Given the description of an element on the screen output the (x, y) to click on. 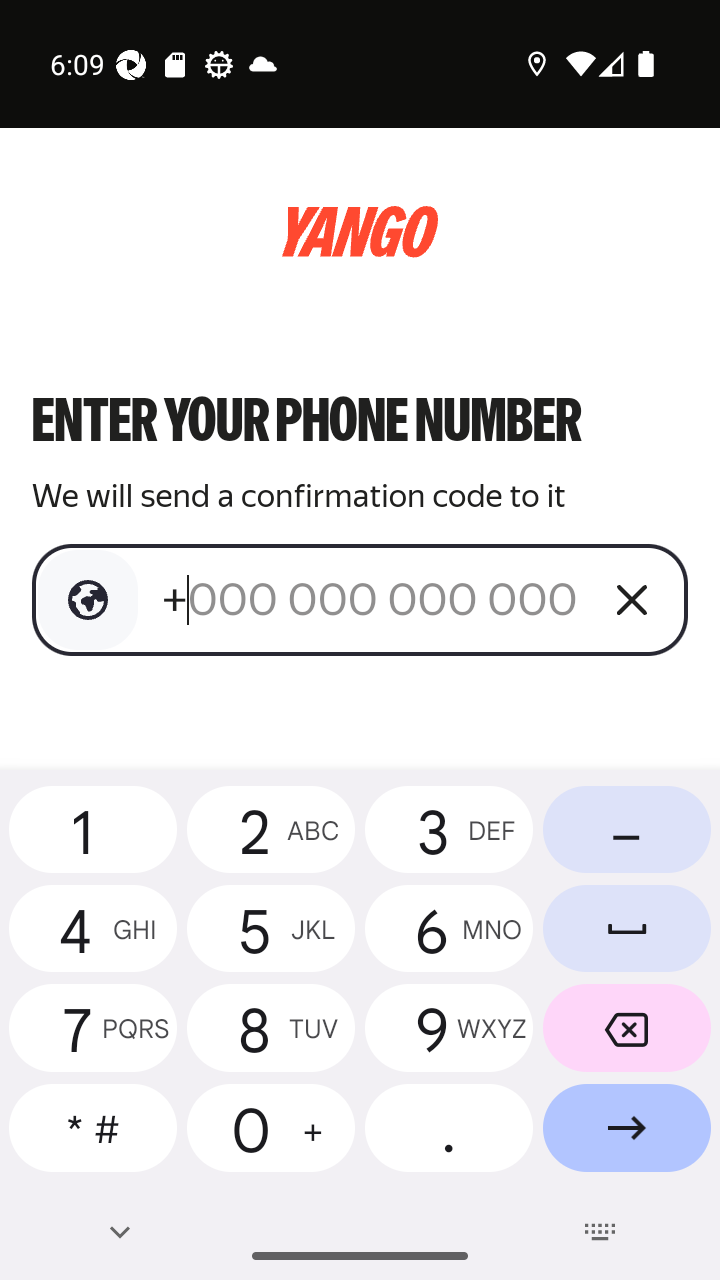
logo (359, 231)
  (88, 600)
+ (372, 599)
